Given the description of an element on the screen output the (x, y) to click on. 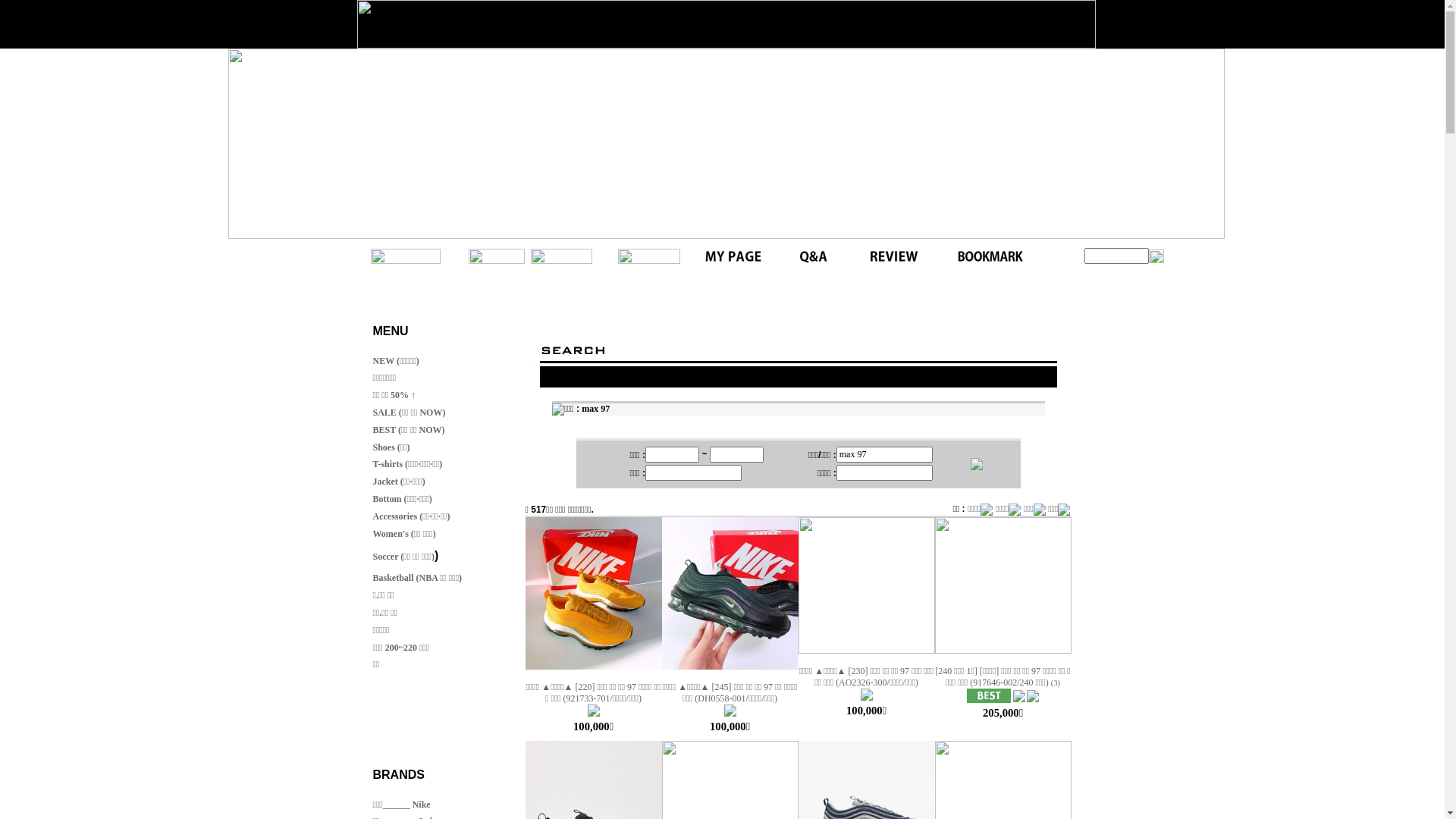
max 97 Element type: text (595, 408)
